Given the description of an element on the screen output the (x, y) to click on. 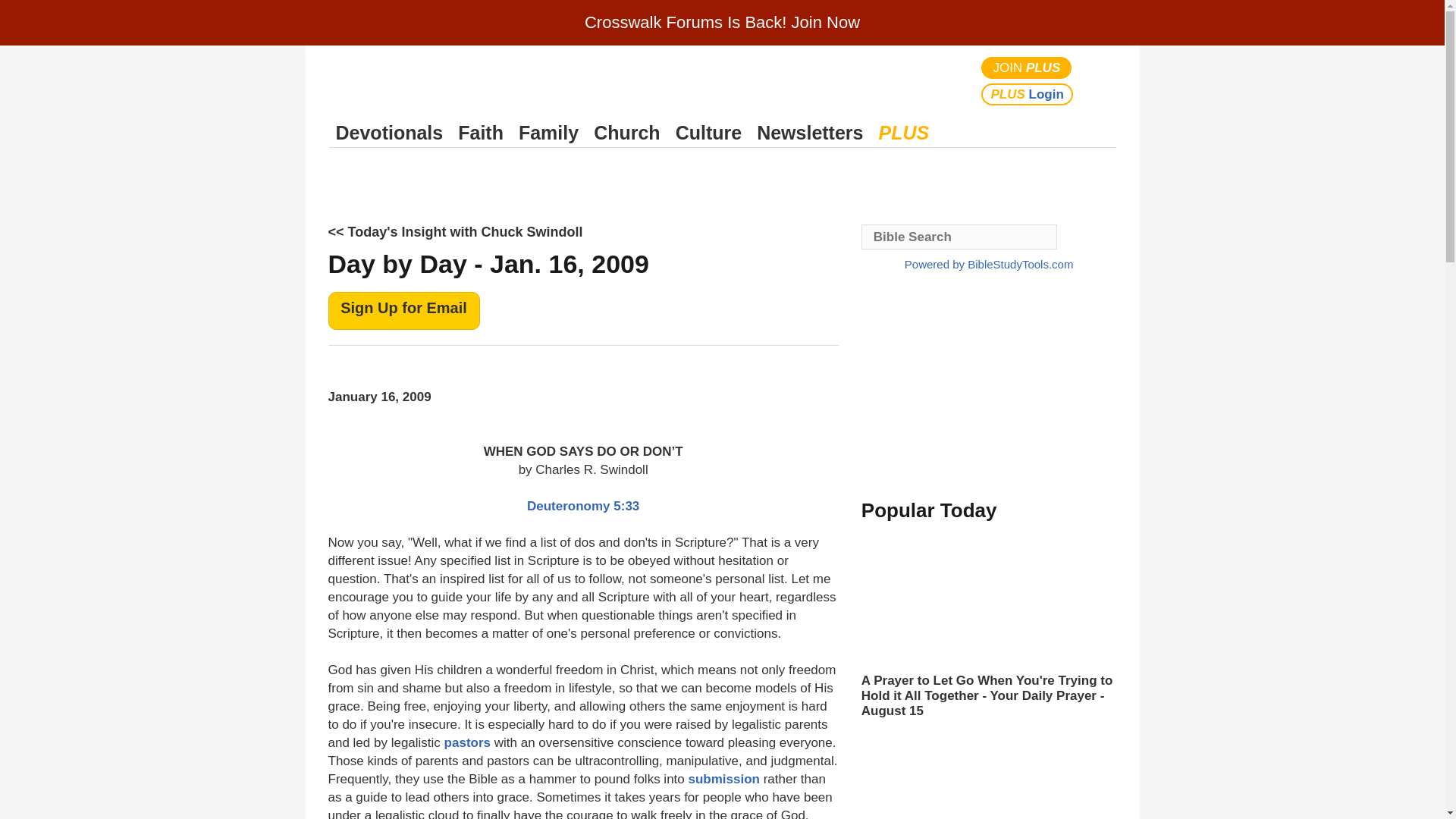
Faith (481, 132)
Plus Login (1026, 94)
Family (548, 132)
JOIN PLUS (1026, 67)
Join Plus (1026, 67)
PLUS Login (1026, 94)
Search (1101, 80)
Devotionals (389, 132)
